Given the description of an element on the screen output the (x, y) to click on. 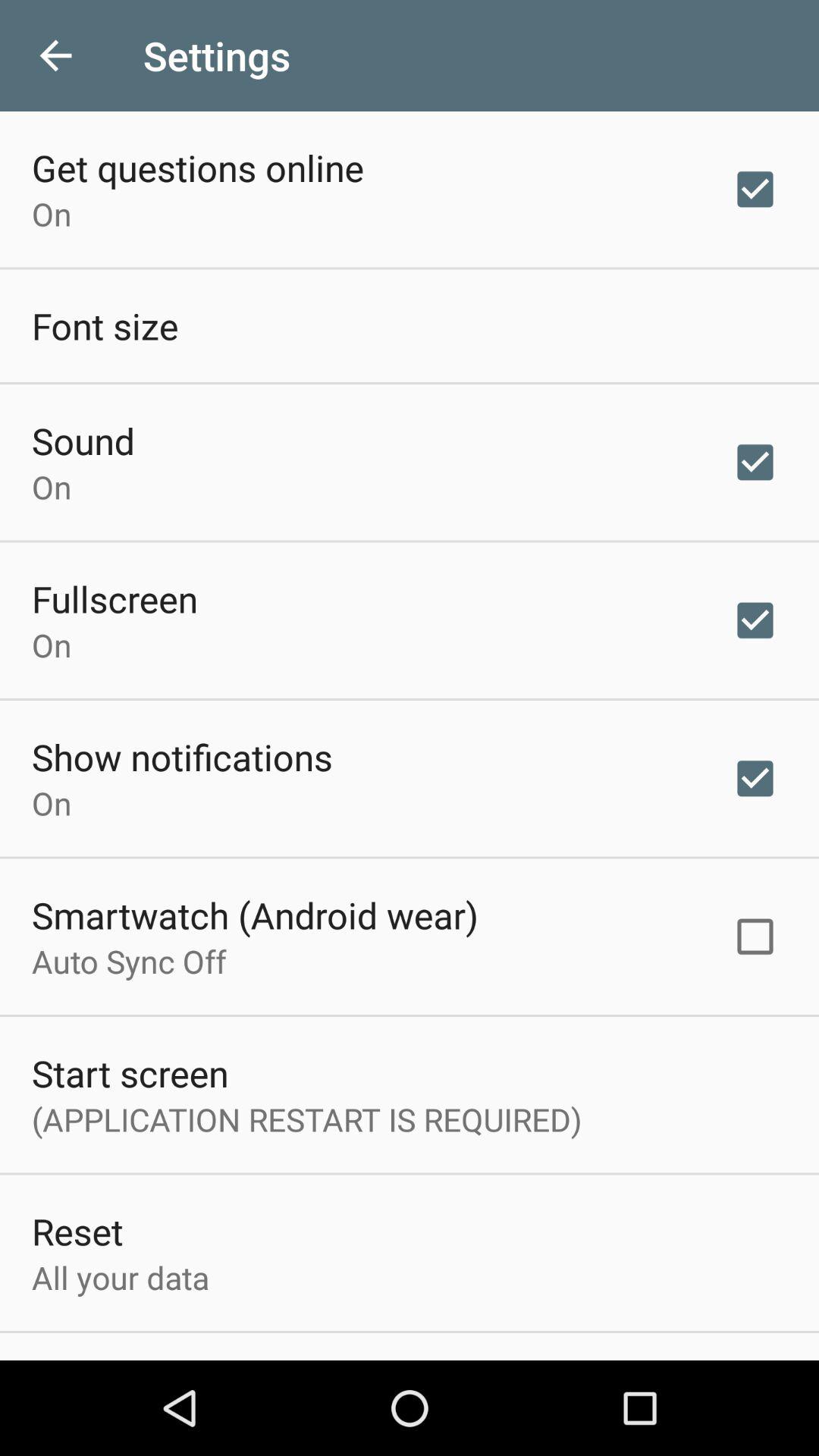
turn on the icon below on item (181, 756)
